Given the description of an element on the screen output the (x, y) to click on. 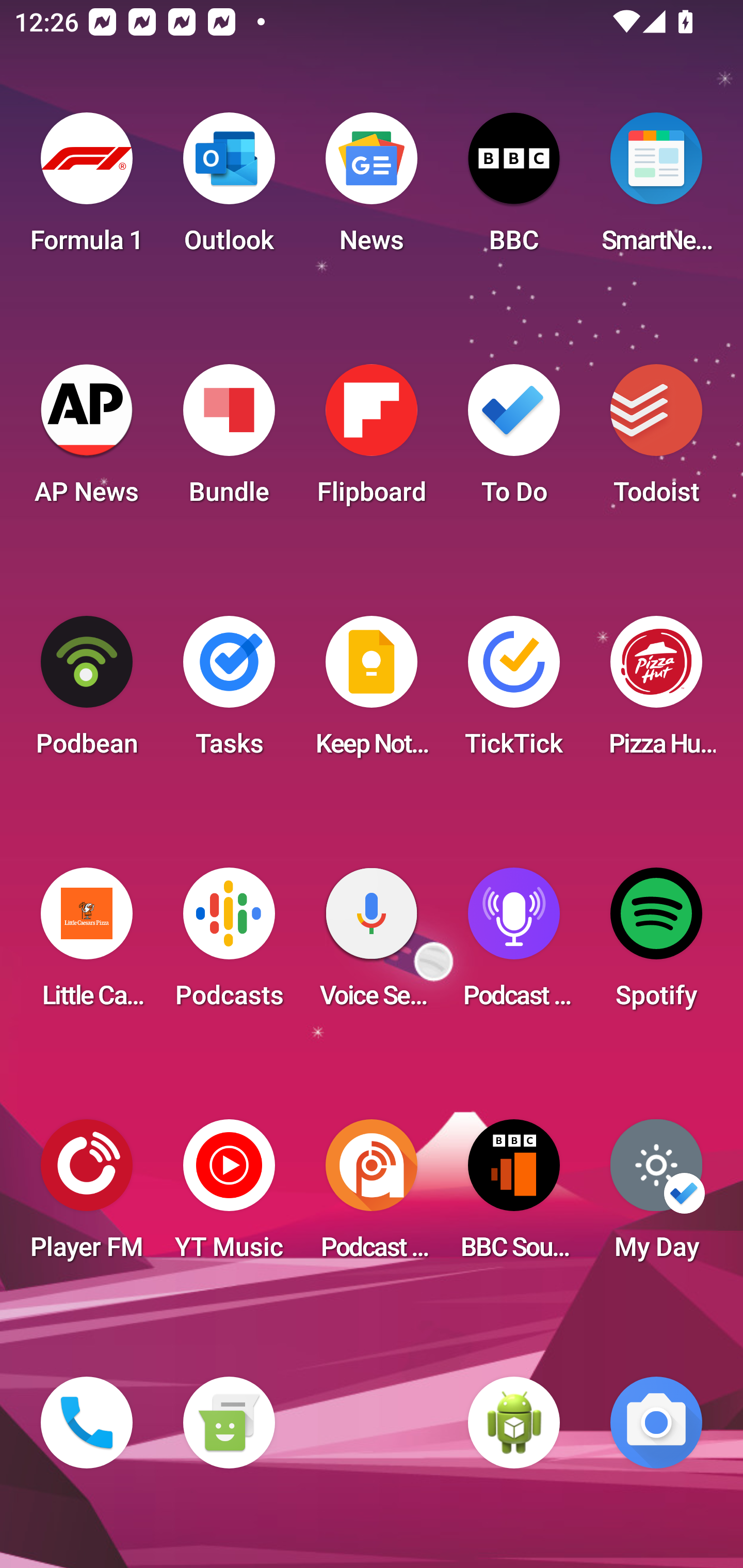
Formula 1 (86, 188)
Outlook (228, 188)
News (371, 188)
BBC (513, 188)
SmartNews (656, 188)
AP News (86, 440)
Bundle (228, 440)
Flipboard (371, 440)
To Do (513, 440)
Todoist (656, 440)
Podbean (86, 692)
Tasks (228, 692)
Keep Notes (371, 692)
TickTick (513, 692)
Pizza Hut HK & Macau (656, 692)
Little Caesars Pizza (86, 943)
Podcasts (228, 943)
Voice Search (371, 943)
Podcast Player (513, 943)
Spotify (656, 943)
Player FM (86, 1195)
YT Music (228, 1195)
Podcast Addict (371, 1195)
BBC Sounds (513, 1195)
My Day (656, 1195)
Phone (86, 1422)
Messaging (228, 1422)
WebView Browser Tester (513, 1422)
Camera (656, 1422)
